Given the description of an element on the screen output the (x, y) to click on. 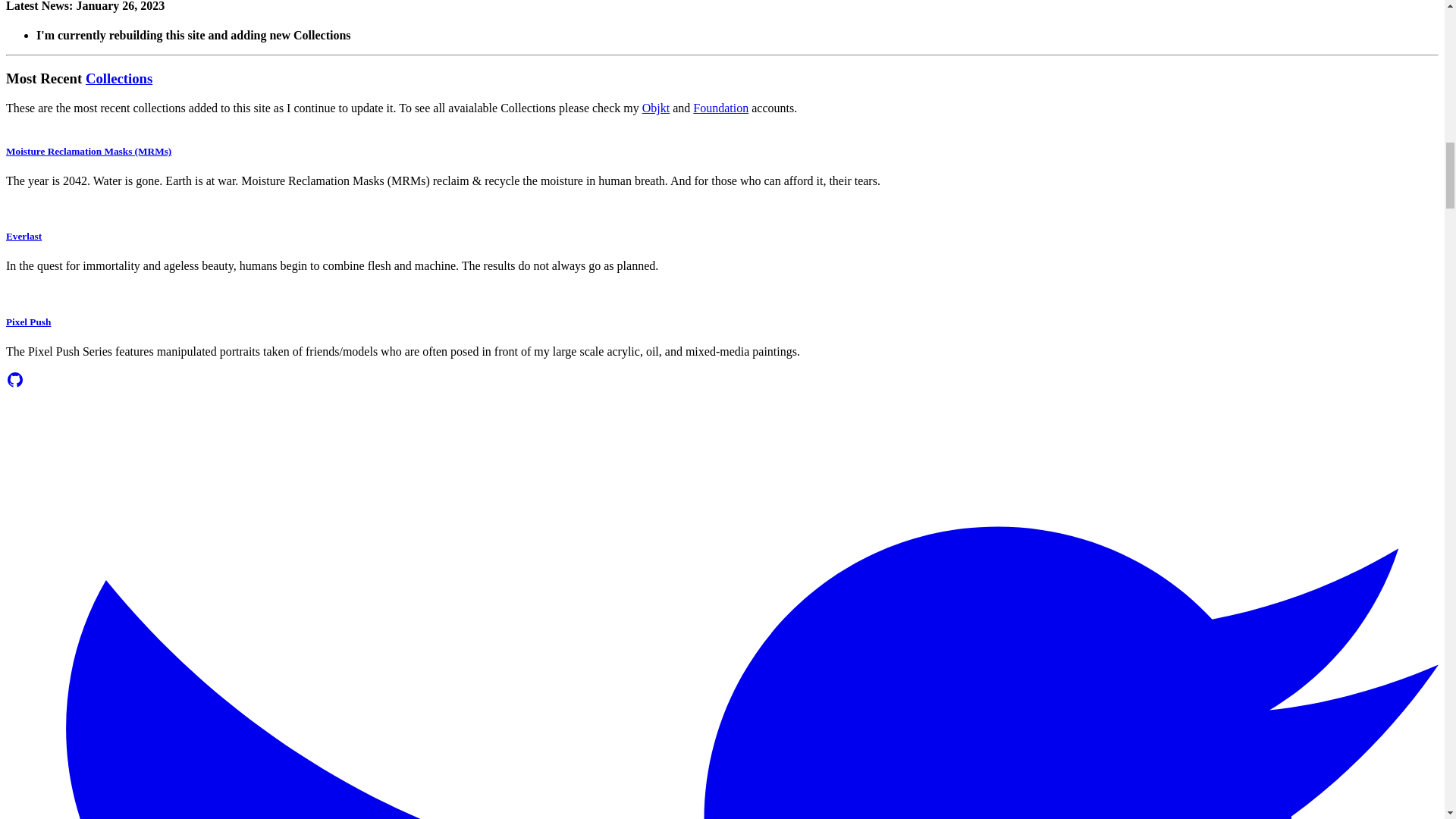
Click to view Limn Digital on GitHub (14, 384)
Click to view Limn Digital on GitHub (14, 380)
Everlast (23, 235)
Pixel Push (27, 321)
Foundation (720, 107)
Objkt (655, 107)
Collections (118, 78)
